Given the description of an element on the screen output the (x, y) to click on. 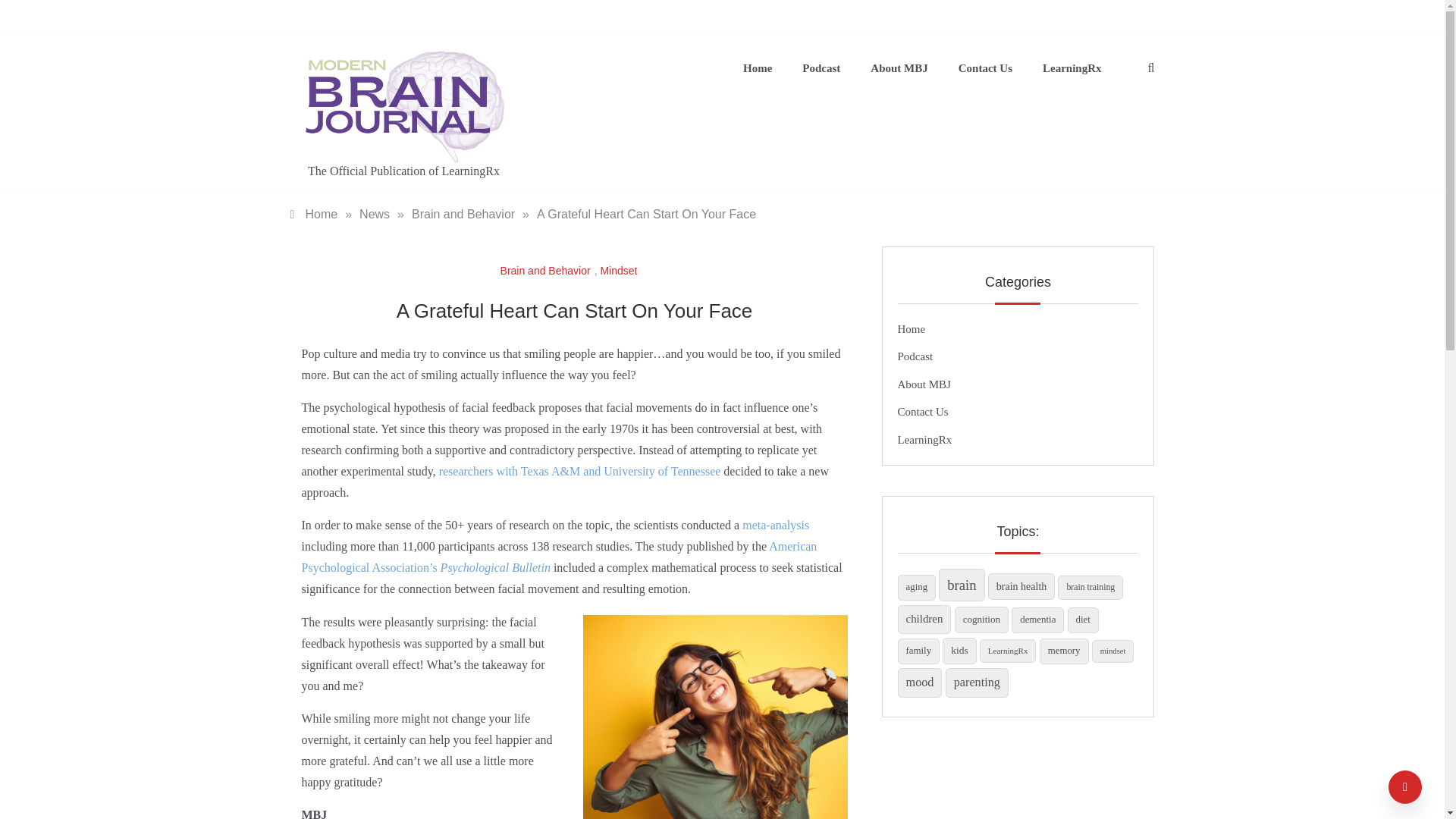
About MBJ (899, 68)
meta-analysis (775, 524)
Brain and Behavior (463, 214)
Podcast (821, 68)
Podcast (915, 356)
Contact Us (985, 68)
LearningRx (1064, 68)
Home (313, 214)
Home (757, 68)
Go to Top (1405, 786)
Psychological Bulletin (495, 567)
Brain and Behavior (547, 270)
About MBJ (924, 384)
News (374, 214)
Home (912, 328)
